Given the description of an element on the screen output the (x, y) to click on. 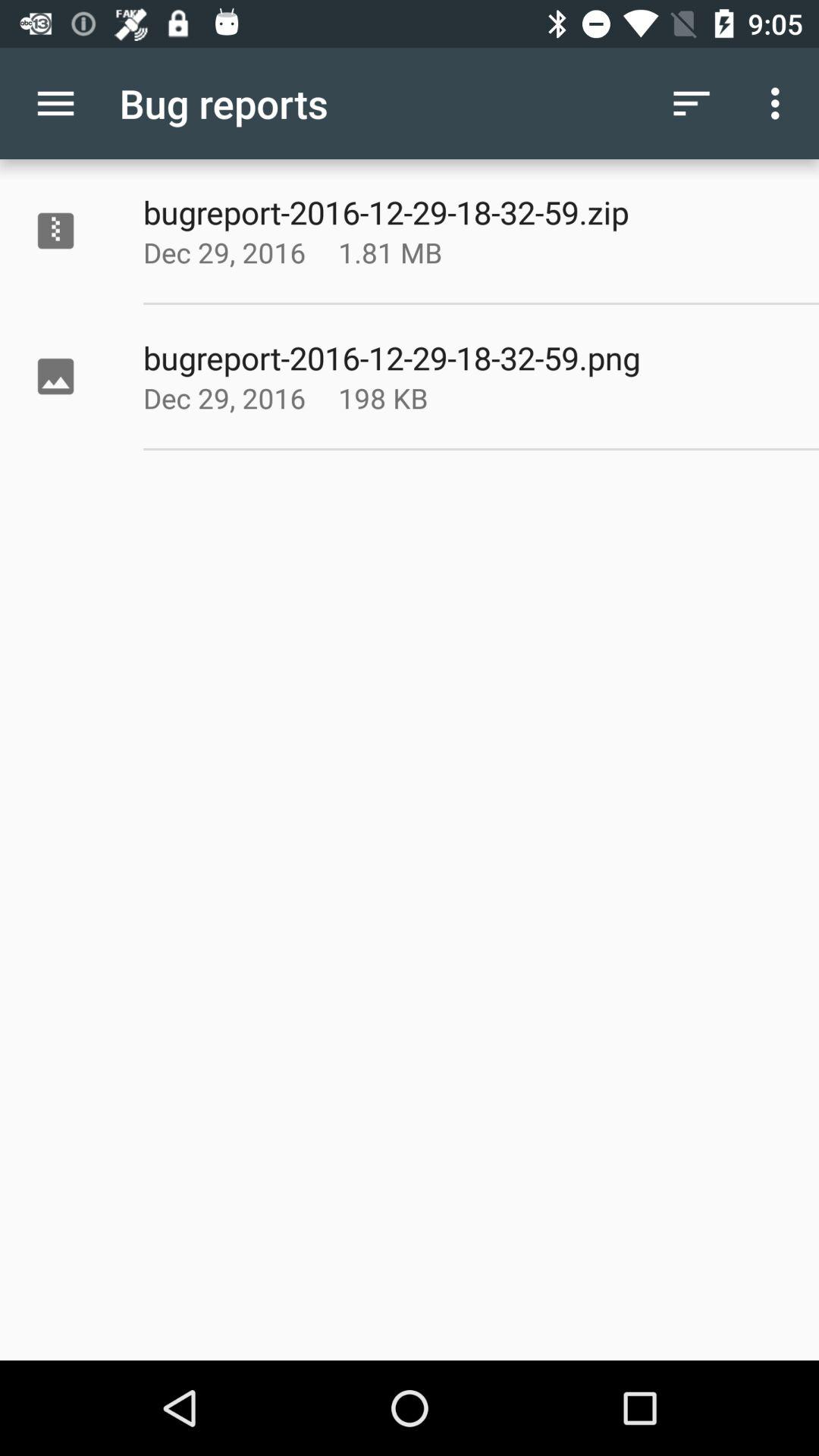
press the app to the left of the bug reports app (55, 103)
